Given the description of an element on the screen output the (x, y) to click on. 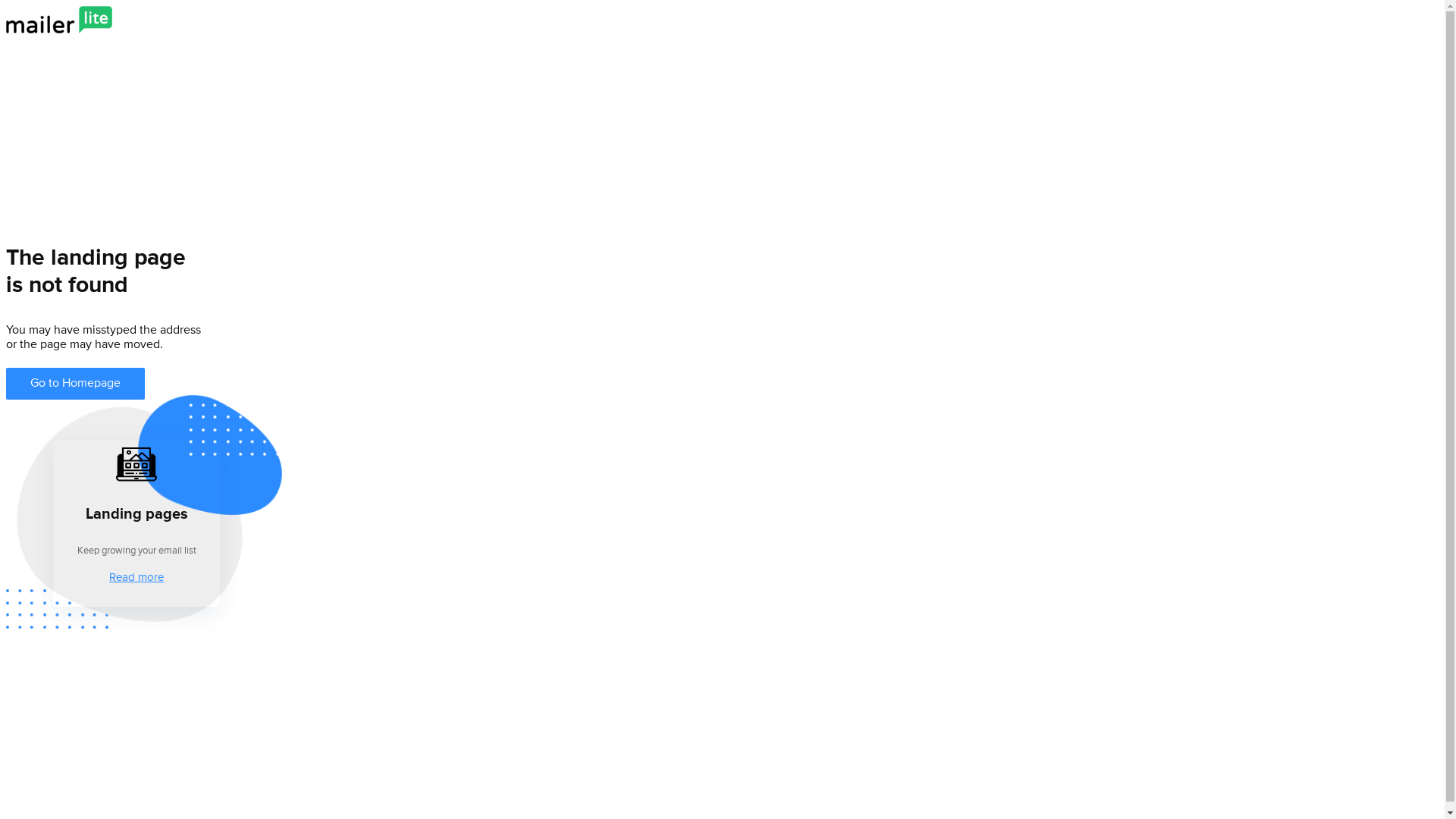
Read more Element type: text (136, 577)
Go to Homepage Element type: text (75, 383)
